Given the description of an element on the screen output the (x, y) to click on. 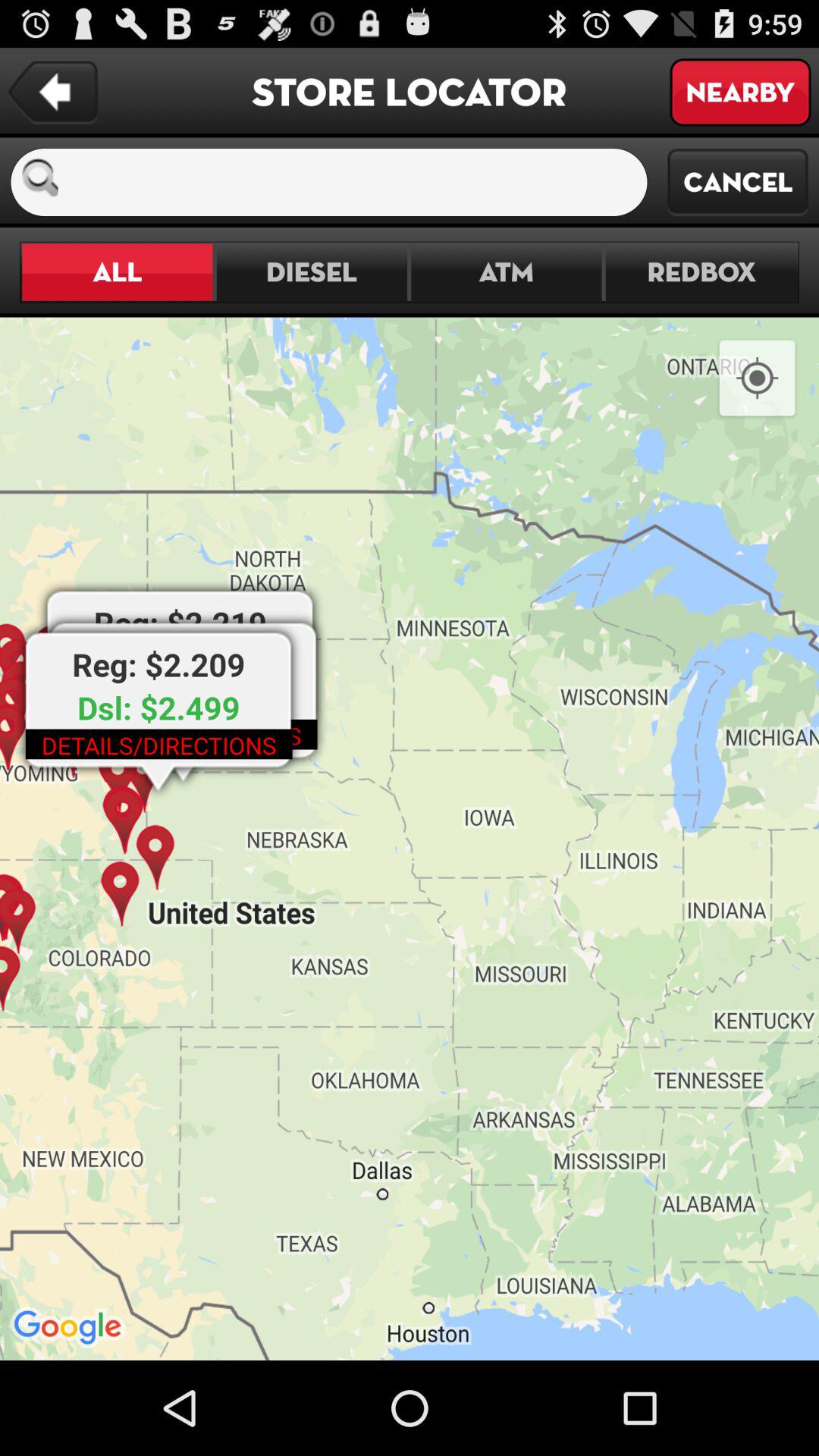
launch the item next to the store locator item (740, 92)
